Given the description of an element on the screen output the (x, y) to click on. 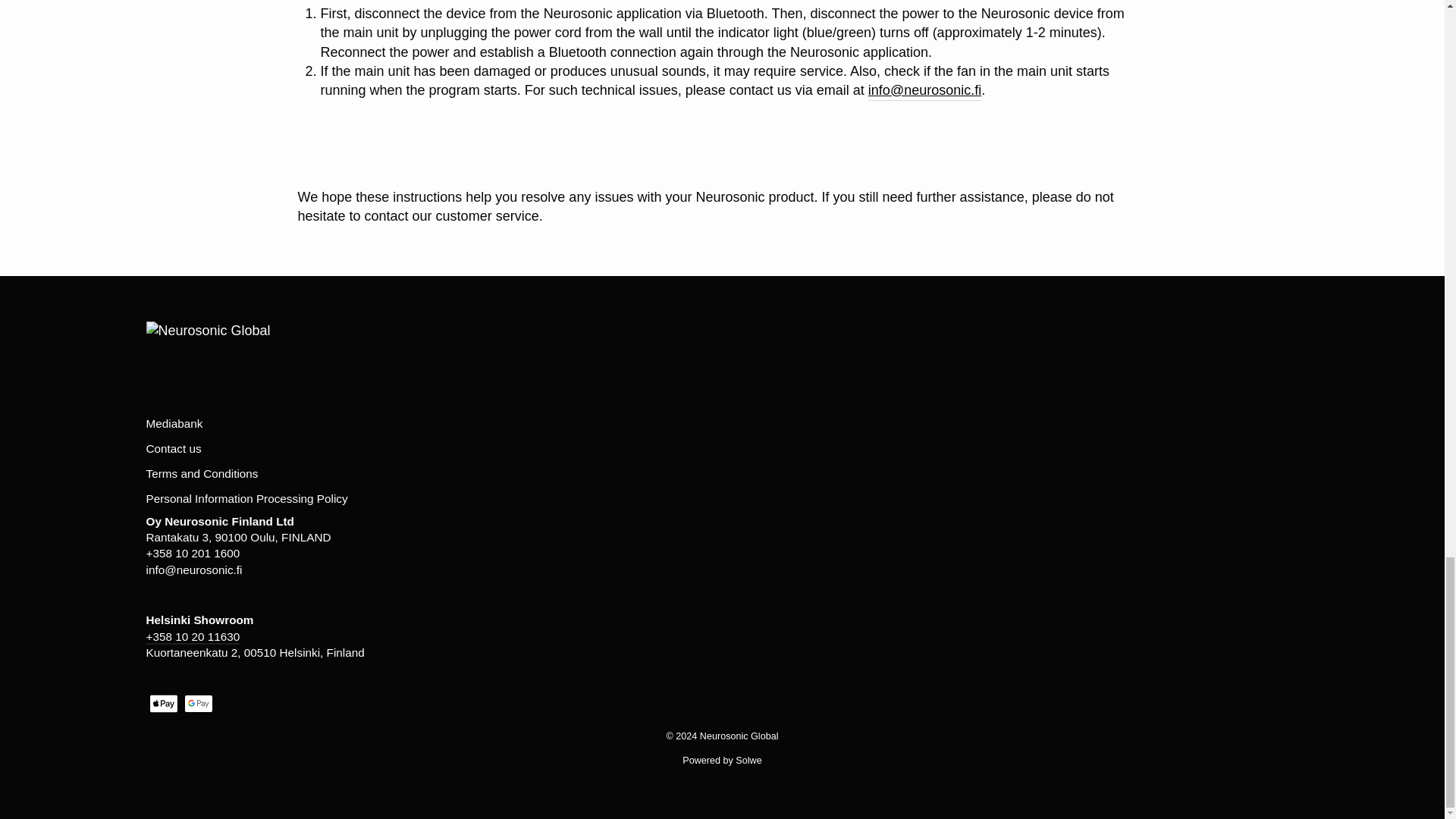
Google Pay (197, 703)
Apple Pay (162, 703)
